Given the description of an element on the screen output the (x, y) to click on. 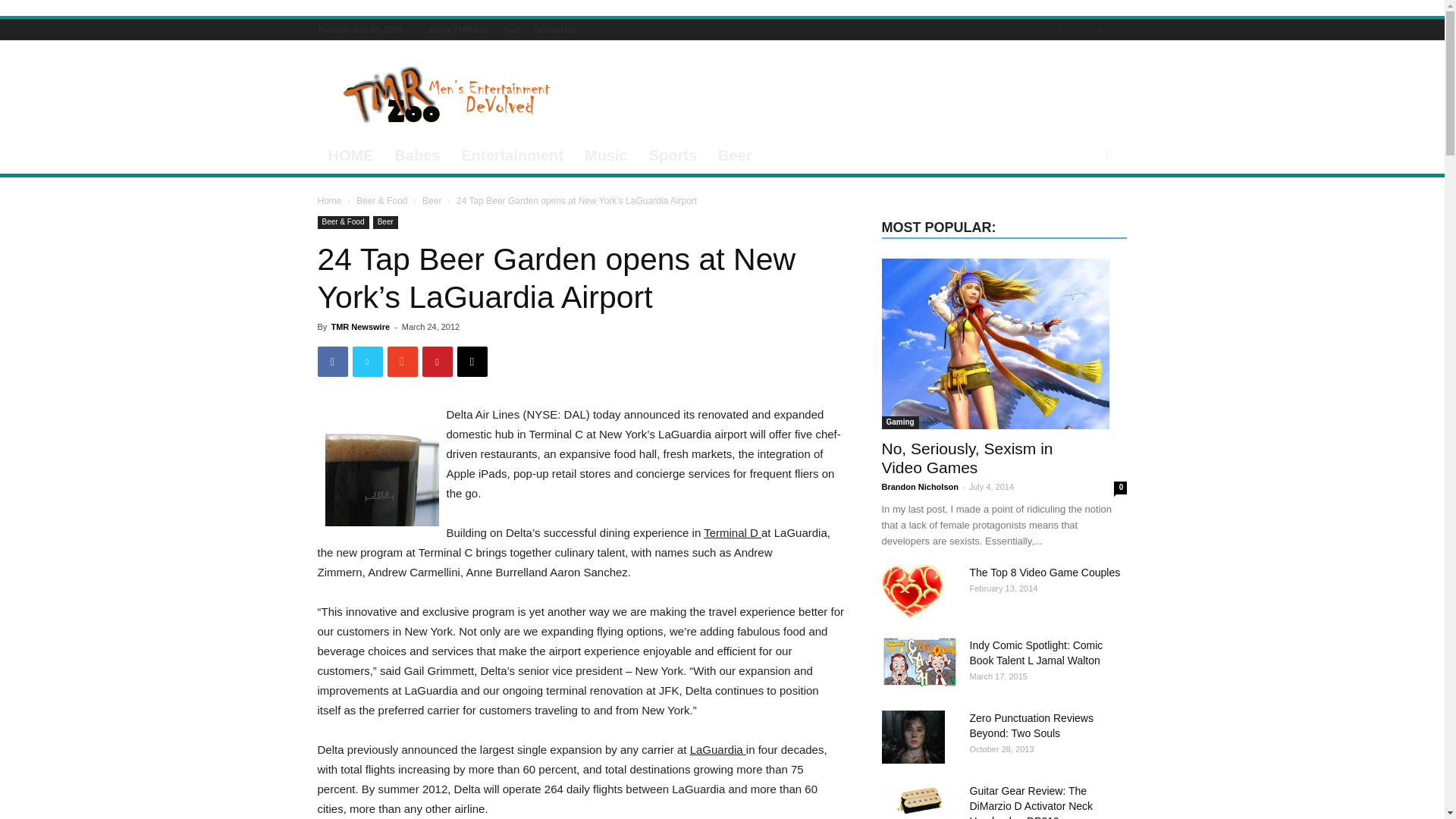
Staff (510, 29)
stock-beer-stout (381, 469)
Music (606, 155)
Beer (384, 222)
Home (328, 200)
Beer (734, 155)
About TMR Zoo (458, 29)
TMR Newswire (360, 326)
Babes (416, 155)
Search (1083, 215)
Entertainment (512, 155)
View all posts in Beer (431, 200)
Contact Us (554, 29)
Beer (431, 200)
Sports (673, 155)
